Given the description of an element on the screen output the (x, y) to click on. 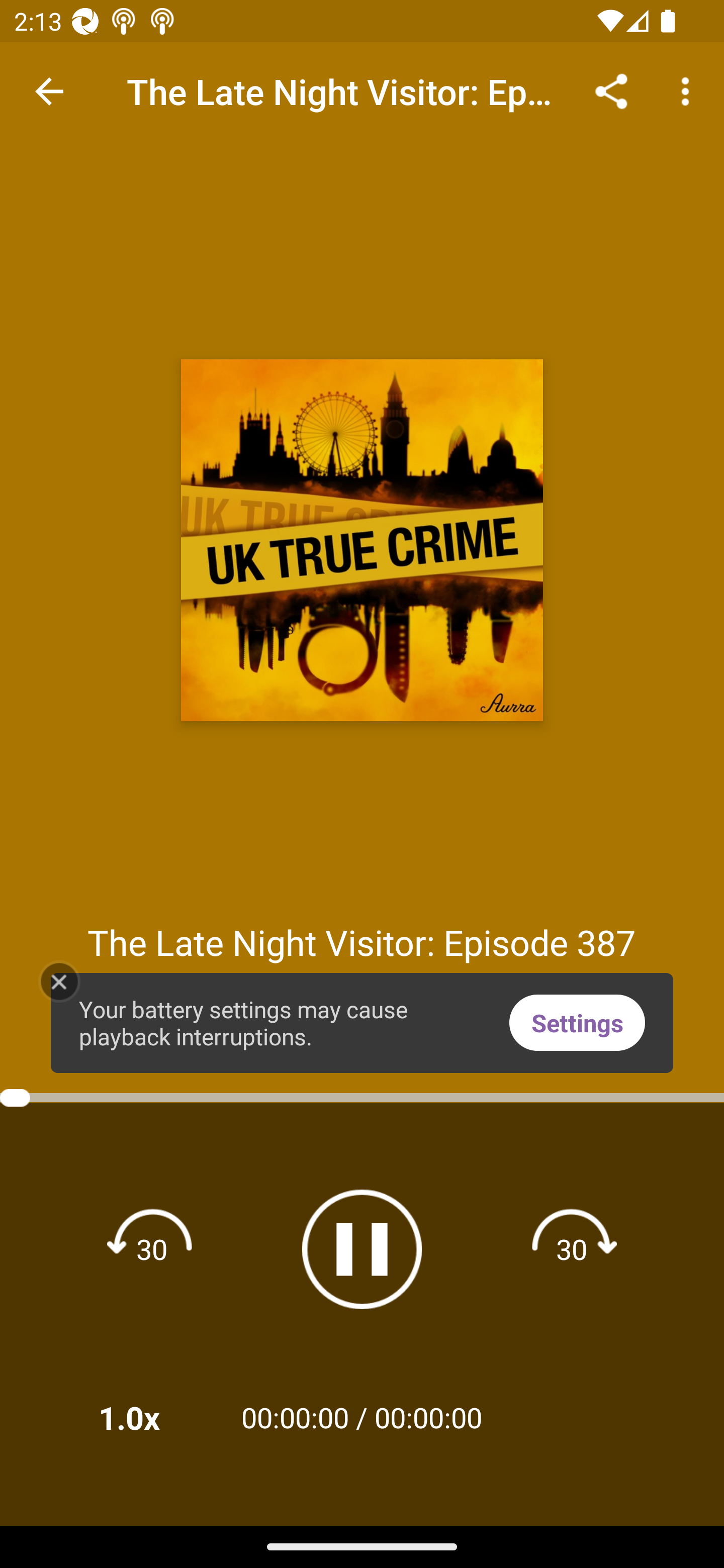
Navigate up (49, 91)
Share... (611, 90)
More options (688, 90)
Settings (576, 1022)
Pause (361, 1249)
Rewind (151, 1248)
Fast forward (571, 1248)
1.0x Playback Speeds (154, 1417)
00:00:00 (428, 1417)
